Given the description of an element on the screen output the (x, y) to click on. 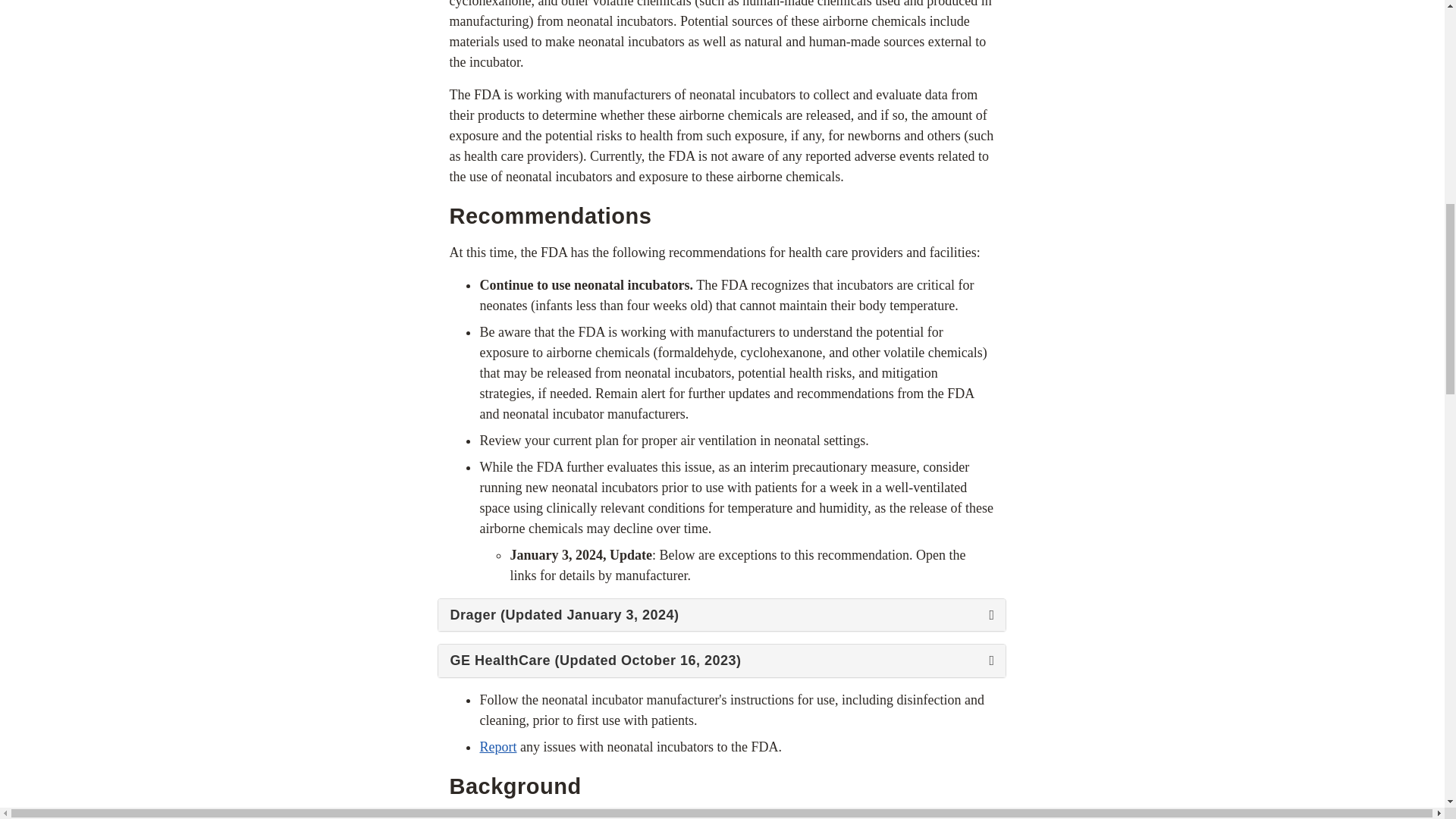
Reporting Serious Problems to FDA (497, 746)
